Given the description of an element on the screen output the (x, y) to click on. 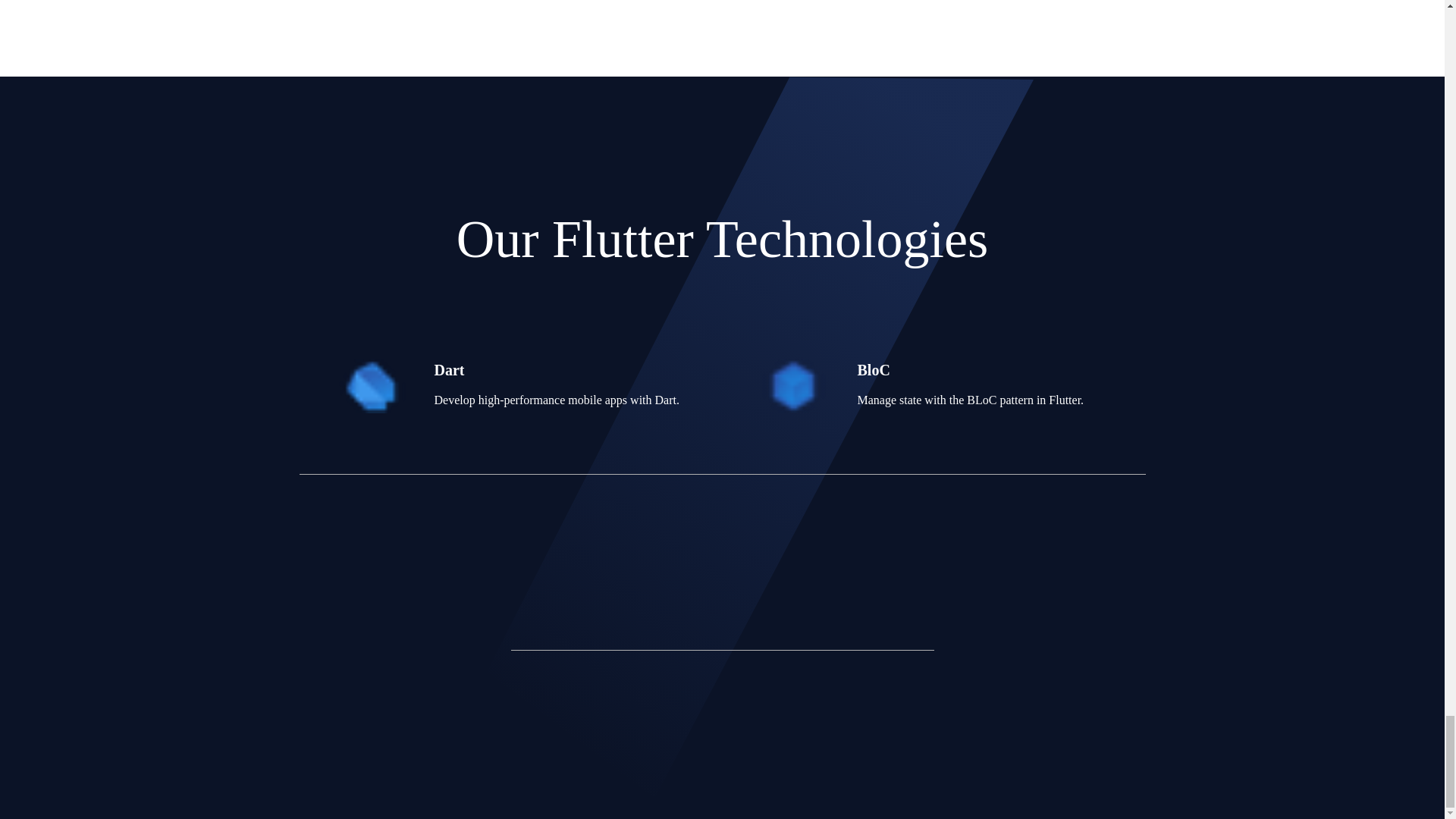
BloC (970, 382)
Dart (555, 382)
